Given the description of an element on the screen output the (x, y) to click on. 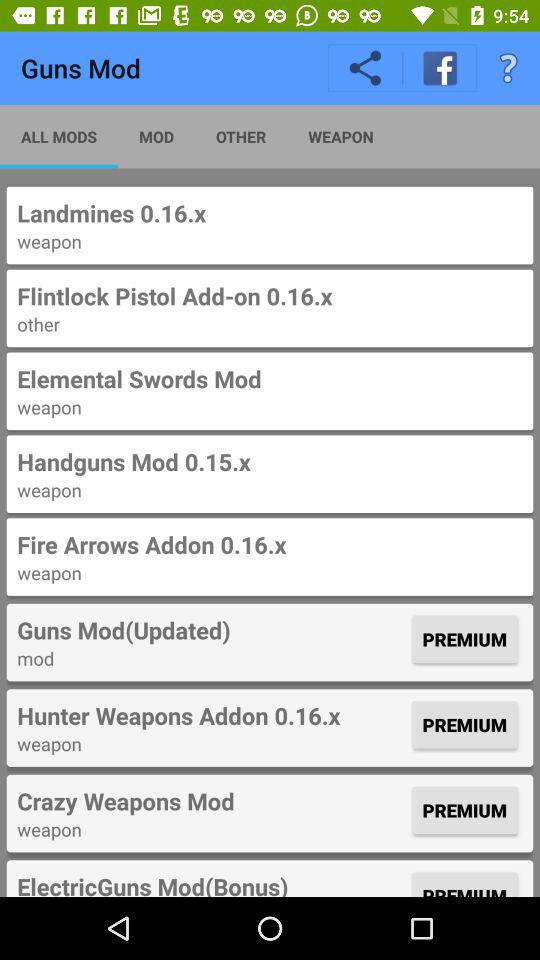
click item to the left of mod item (59, 136)
